Given the description of an element on the screen output the (x, y) to click on. 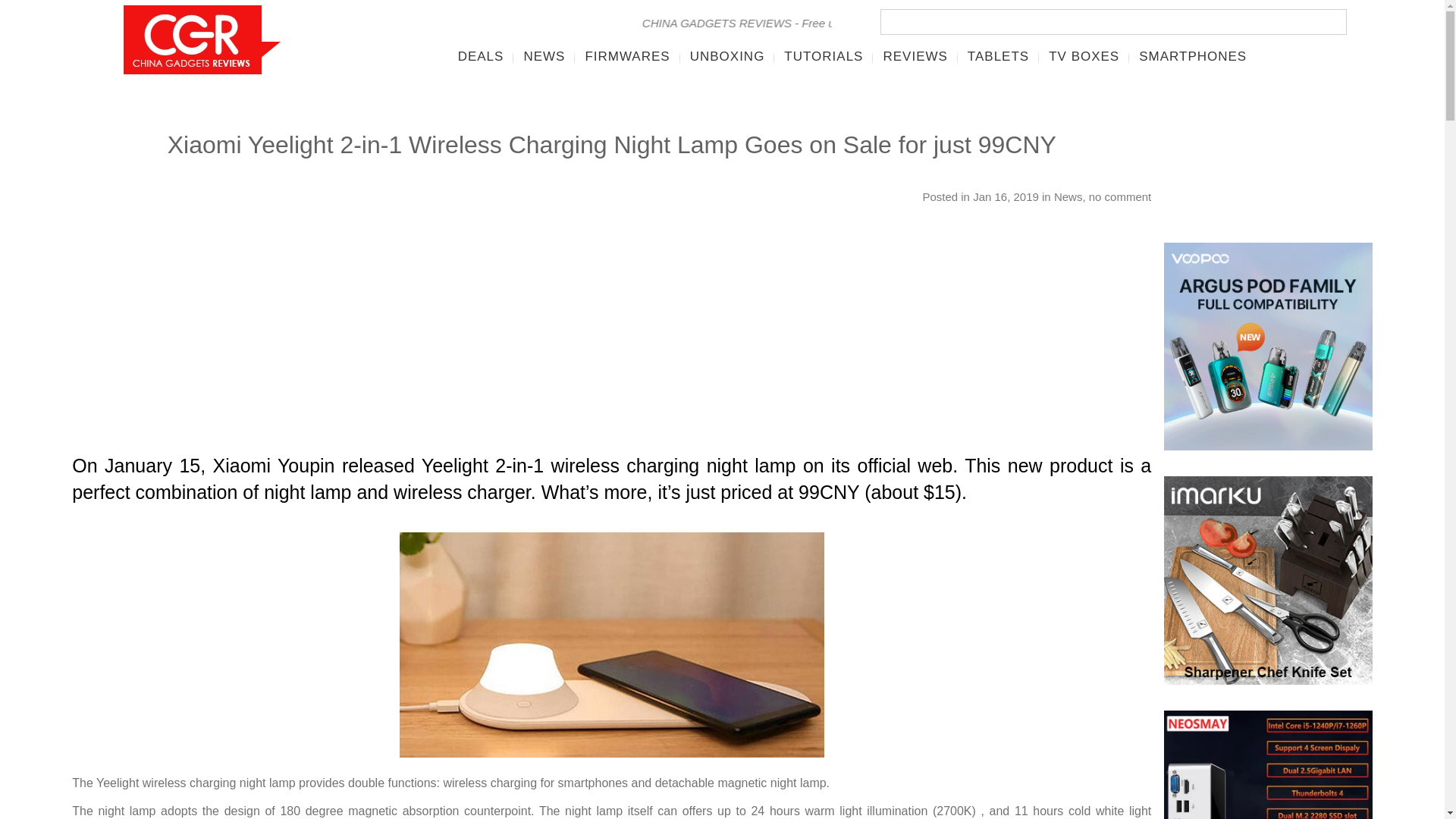
UNBOXING (726, 56)
FIRMWARES (627, 56)
News (1068, 196)
TV BOXES (1084, 56)
TUTORIALS (823, 56)
REVIEWS (914, 56)
NEWS (544, 56)
SMARTPHONES (1192, 56)
DEALS (480, 56)
TABLETS (998, 56)
